Given the description of an element on the screen output the (x, y) to click on. 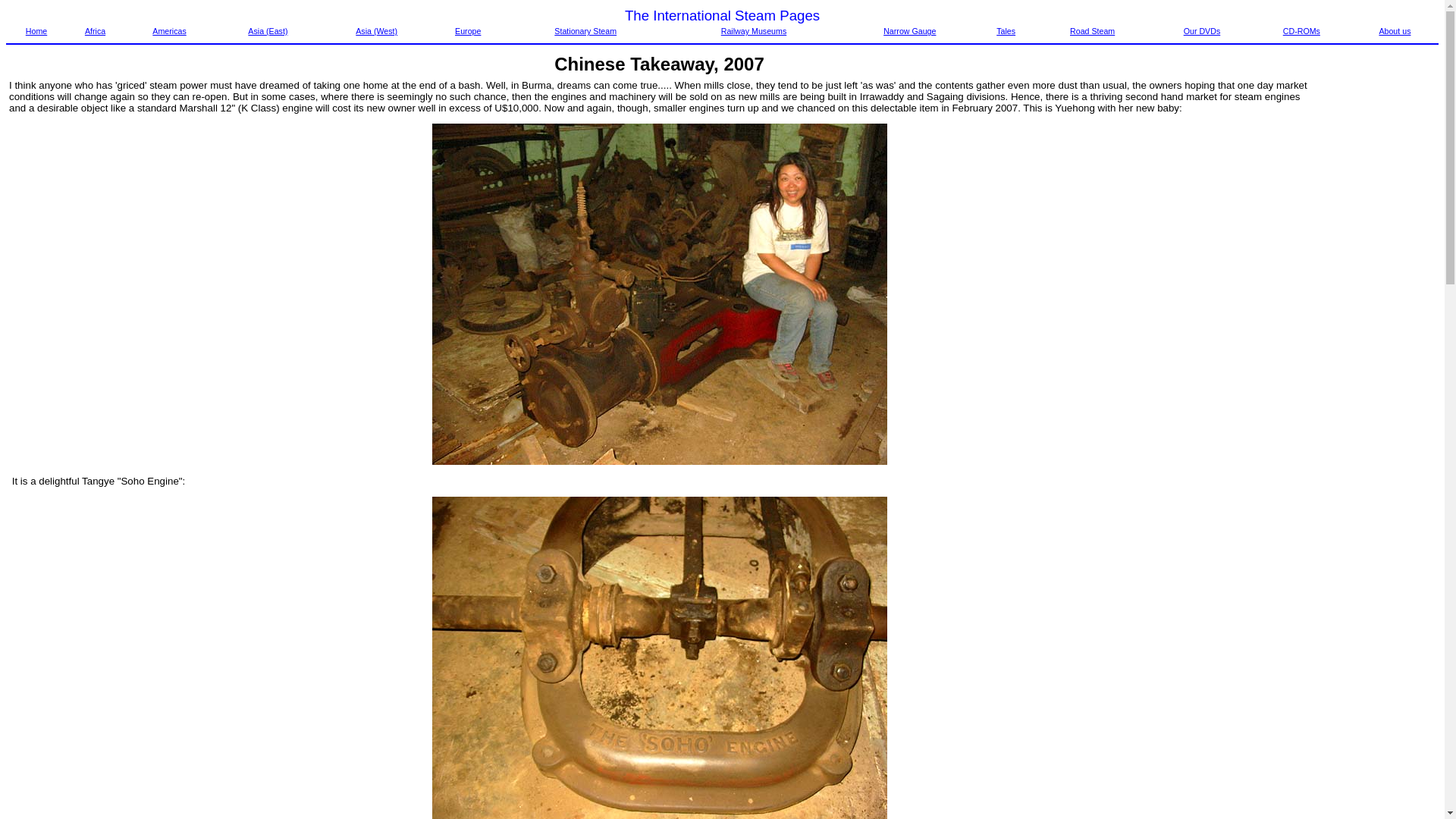
Our DVDs (1202, 31)
Home (36, 31)
Narrow Gauge (909, 31)
About us (1394, 31)
Road Steam (1092, 31)
Europe (467, 31)
Africa (94, 31)
CD-ROMs (1301, 31)
Tales (1004, 31)
Railway Museums (753, 31)
